Given the description of an element on the screen output the (x, y) to click on. 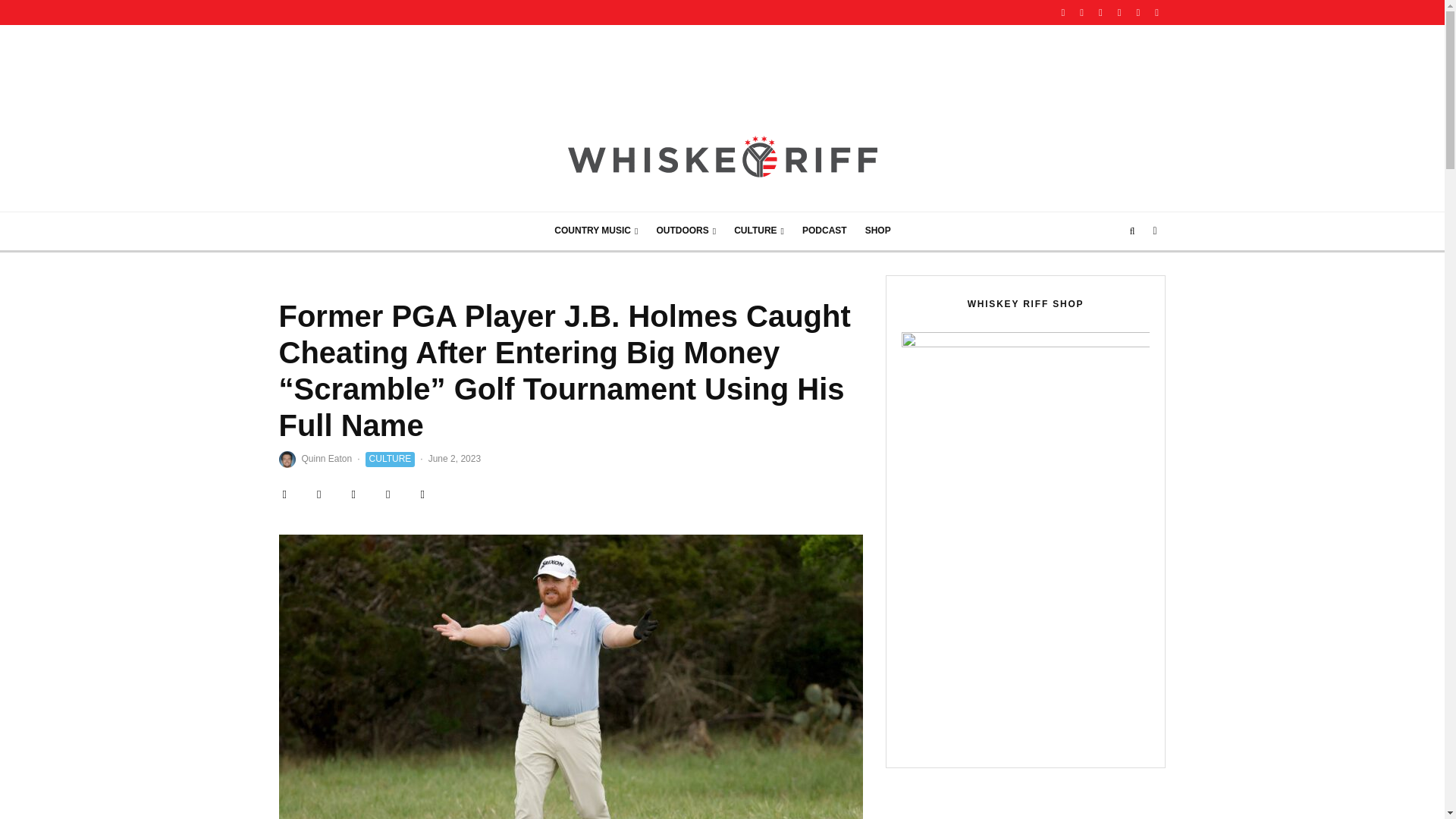
COUNTRY MUSIC (595, 231)
OUTDOORS (685, 231)
CULTURE (759, 231)
